Given the description of an element on the screen output the (x, y) to click on. 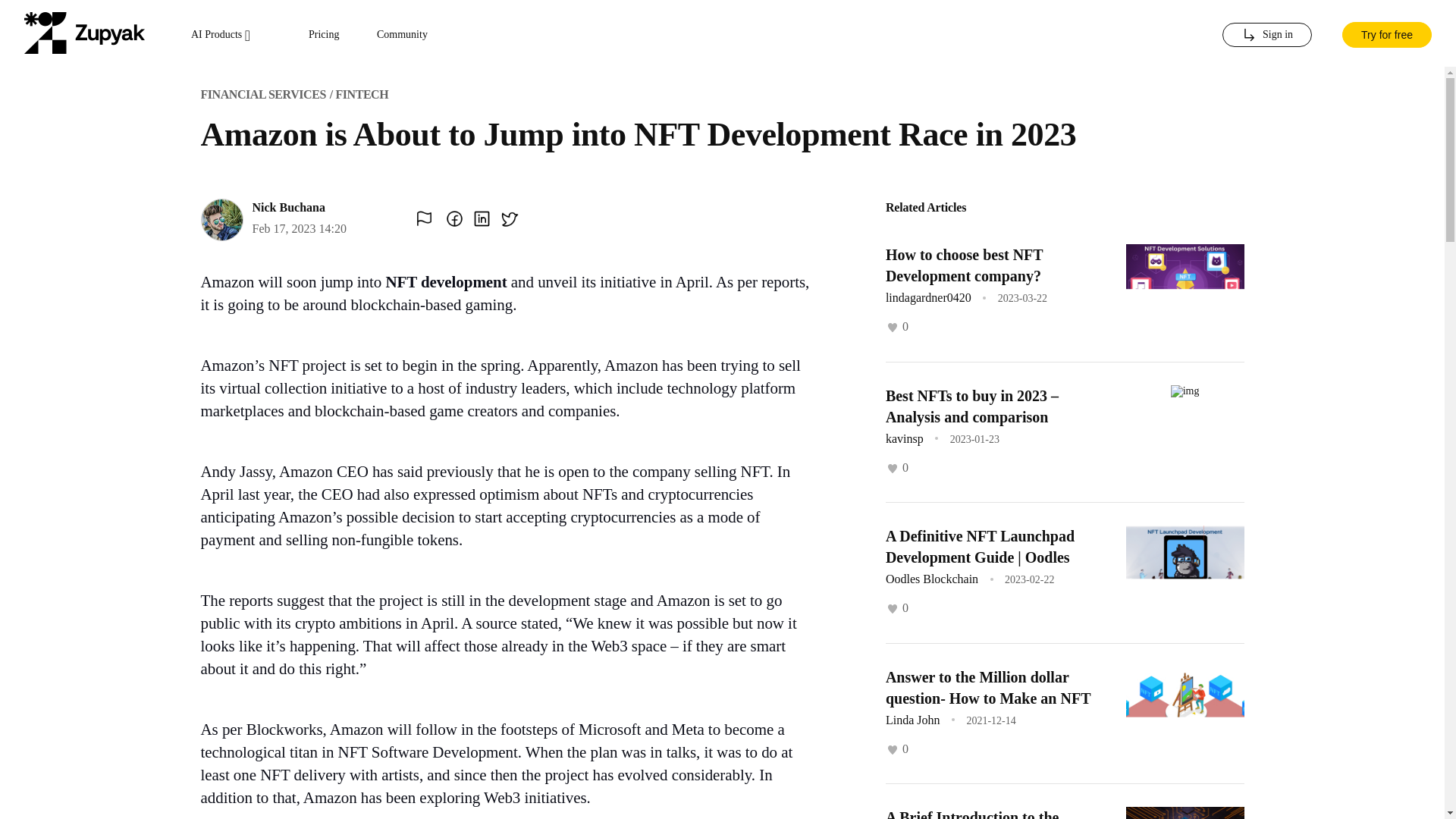
Try for free (1386, 33)
FINTECH (361, 93)
How to choose best NFT Development company? (963, 265)
 Sign in (1267, 34)
FINANCIAL SERVICES (262, 93)
A Brief Introduction to the Intricacies of Dynamic NFTs (977, 814)
Community (402, 34)
Pricing (323, 34)
NFT development (446, 281)
